Given the description of an element on the screen output the (x, y) to click on. 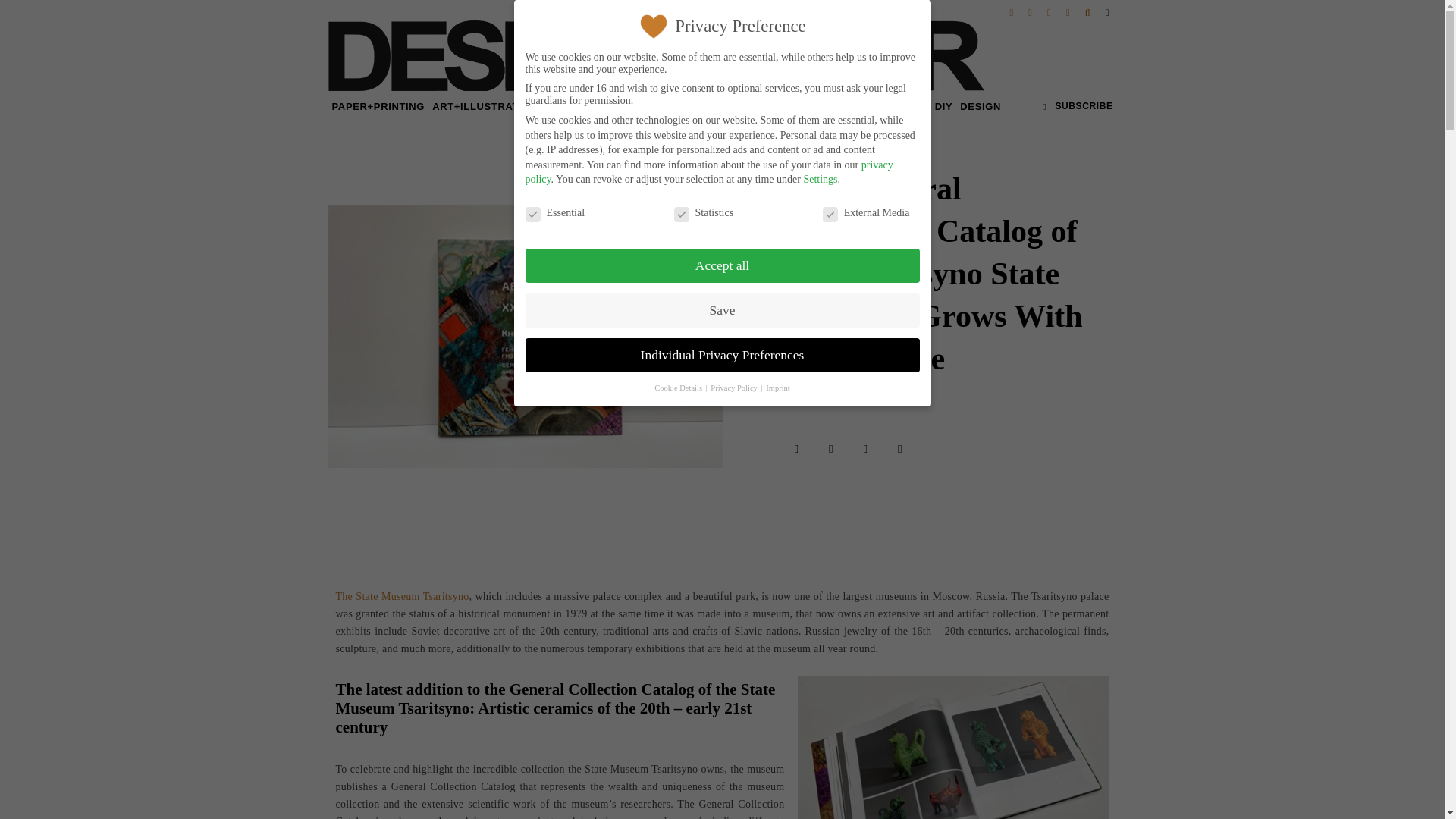
TYPE (558, 106)
INSIGHTS (605, 106)
